Given the description of an element on the screen output the (x, y) to click on. 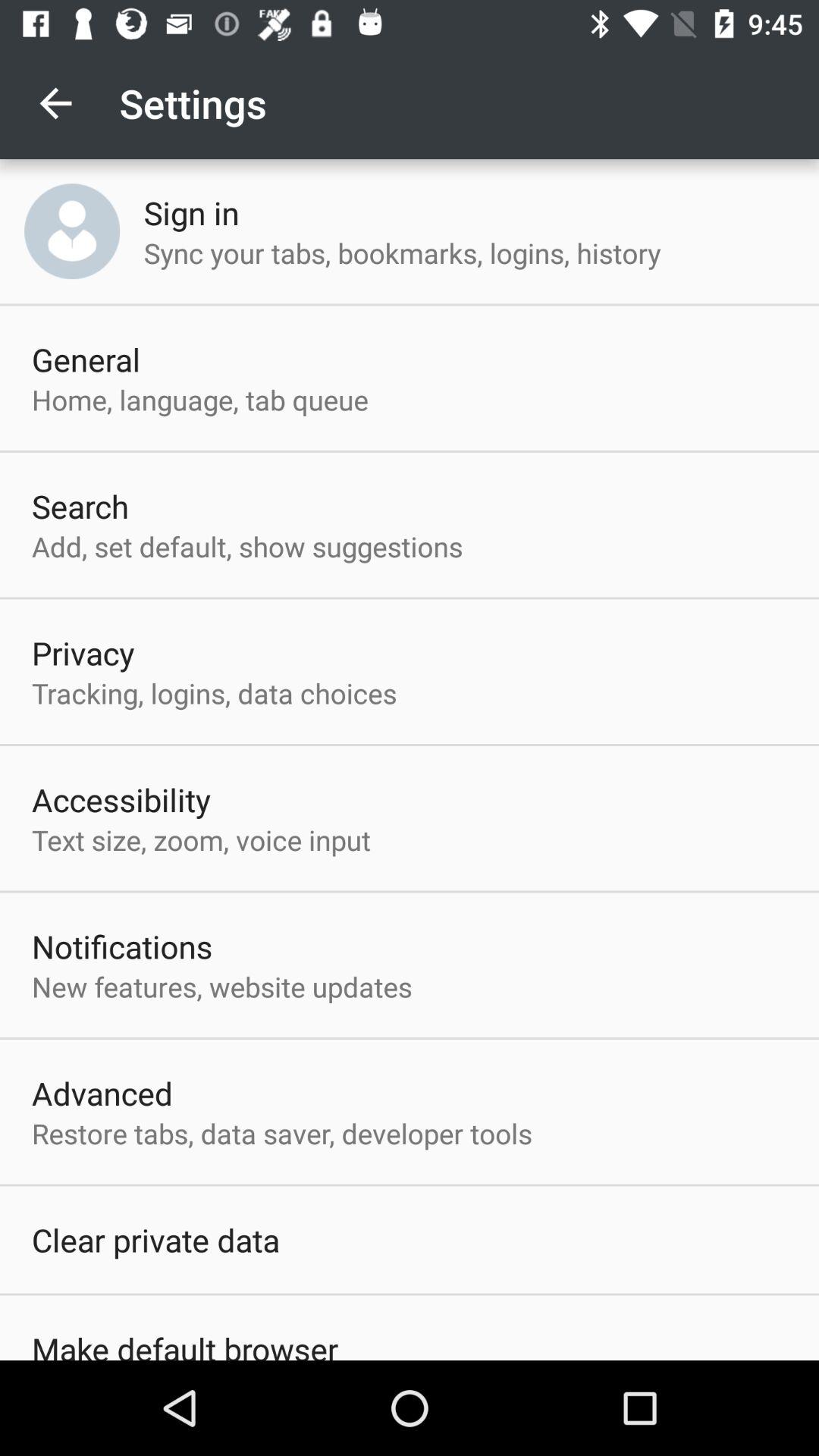
scroll to the add set default item (246, 546)
